Given the description of an element on the screen output the (x, y) to click on. 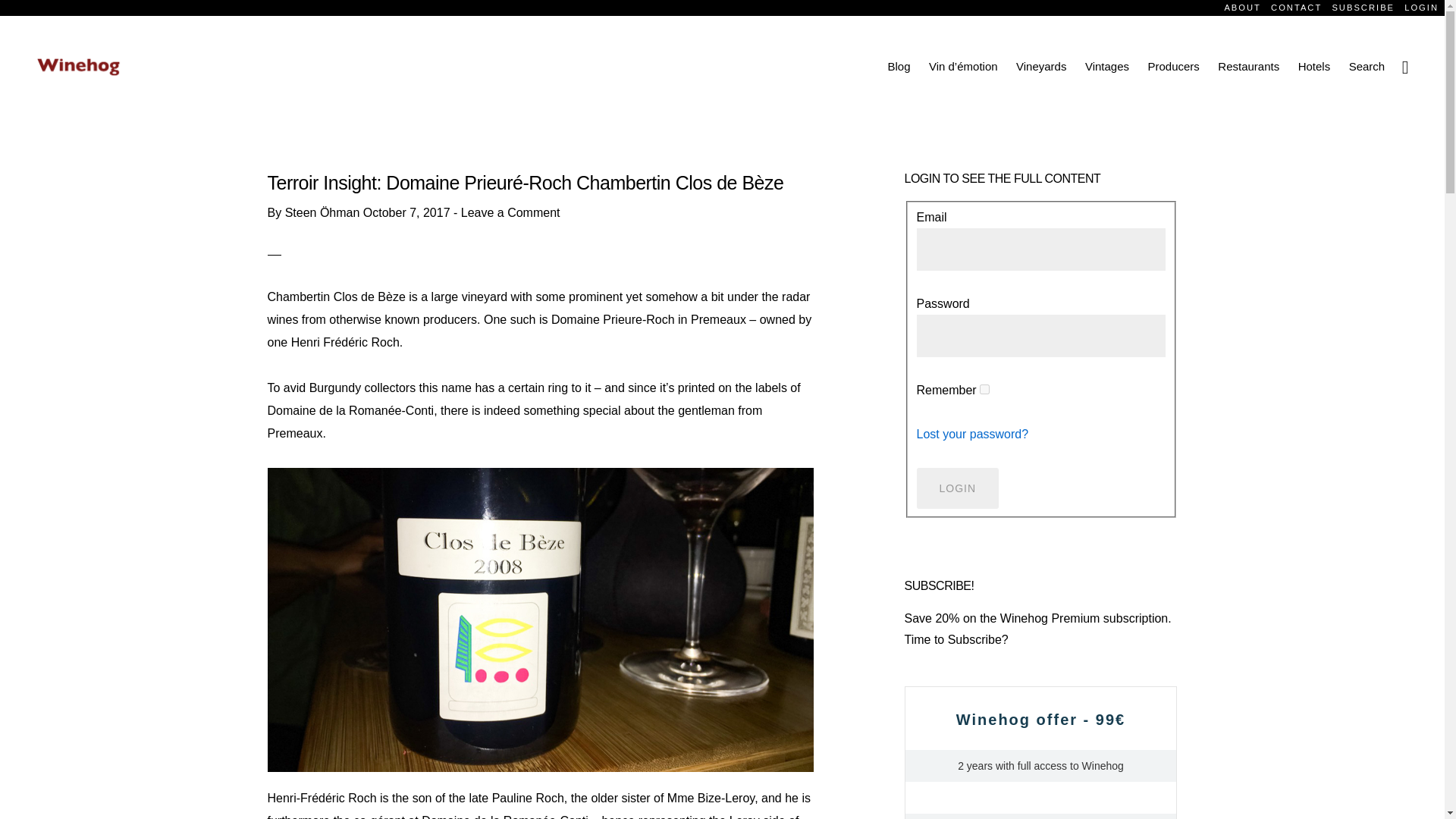
Cookies, Data and Privacy Policy (773, 783)
Vineyards (1041, 65)
SUBSCRIBE (1362, 7)
Blog (898, 65)
Login (956, 487)
CONTACT (1295, 7)
ABOUT (1242, 7)
LOGIN (1421, 7)
1 (984, 388)
